Given the description of an element on the screen output the (x, y) to click on. 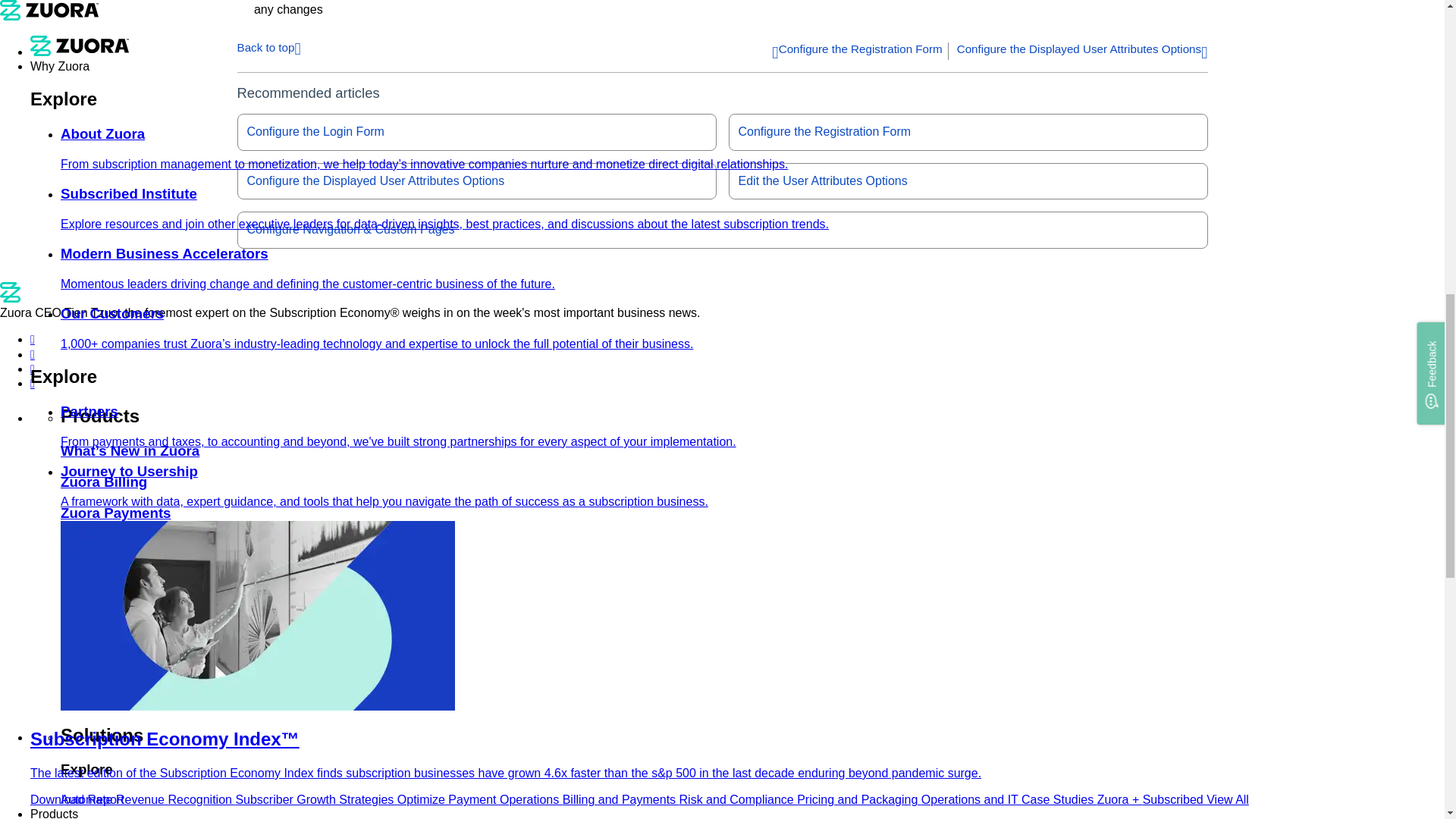
Configure the Displayed User Attributes Options (1082, 51)
Configure the Displayed User Attributes Options (476, 180)
Configure the Displayed User Attributes Options (476, 180)
Configure the Registration Form (856, 51)
Configure the Registration Form (968, 131)
Configure the Registration Form (856, 51)
Edit the User Attributes Options (968, 180)
Back to top (267, 46)
Configure the Login Form (476, 131)
Configure the Registration Form (968, 131)
Configure the Displayed User Attributes Options (1082, 51)
Configure the Login Form (476, 131)
Edit the User Attributes Options (968, 180)
Jump back to top of this article (267, 46)
